Given the description of an element on the screen output the (x, y) to click on. 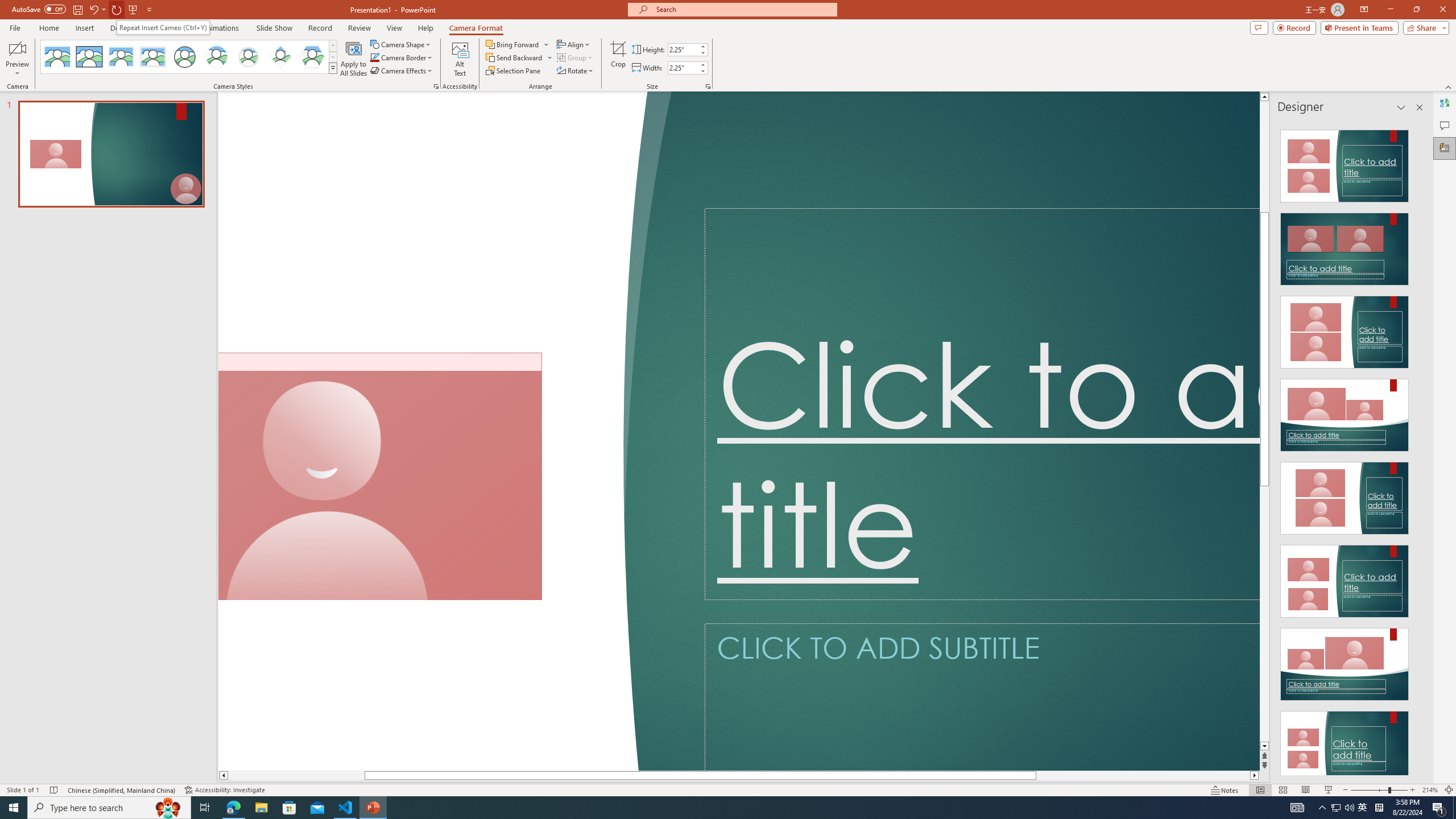
Zoom to Fit  (1449, 790)
Row up (333, 45)
Quick Access Toolbar (82, 9)
Soft Edge Circle (248, 56)
Minimize (1390, 9)
Rotate (575, 69)
Bring Forward (517, 44)
Accessibility Checker Accessibility: Investigate (226, 790)
Camera Border Blue, Accent 1 (374, 56)
Slide Sorter (1282, 790)
Line up (1264, 96)
Comments (1259, 27)
Slide (111, 154)
Format Object... (435, 85)
